Given the description of an element on the screen output the (x, y) to click on. 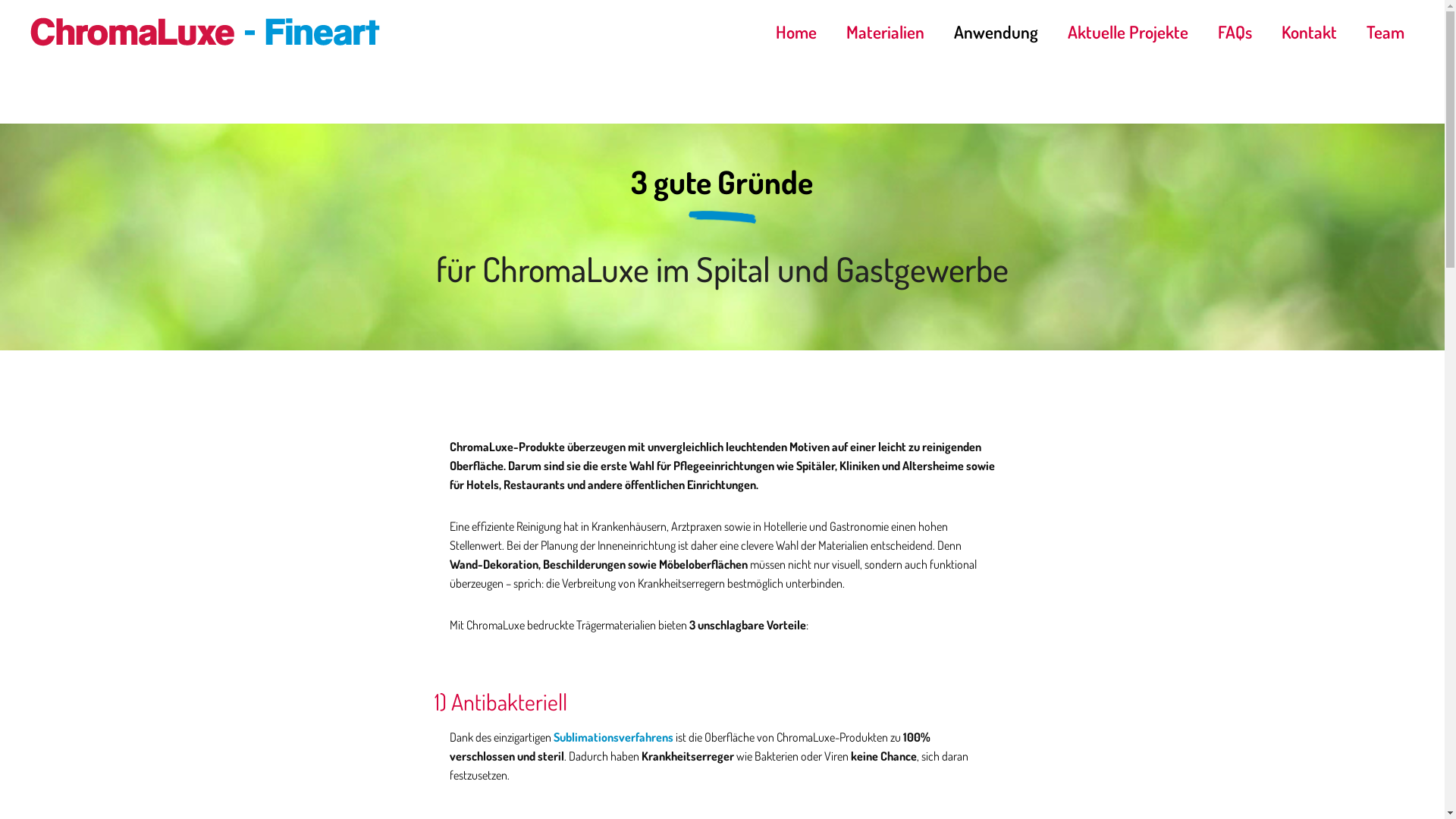
AGBs Element type: text (1099, 665)
Sublimationsverfahrens Element type: text (613, 736)
Anwendung Element type: text (996, 31)
Materialien Element type: text (885, 31)
(+41) 044 493 00 77 Element type: text (546, 694)
(+41) 044 492 19 19 Element type: text (546, 717)
FAQs Element type: text (1234, 31)
Aktuelle Projekte Element type: text (1127, 31)
Kontakt Element type: text (1308, 31)
info@chromaluxe-fineart.ch Element type: text (95, 730)
Home Element type: text (795, 31)
Team Element type: text (1385, 31)
